Given the description of an element on the screen output the (x, y) to click on. 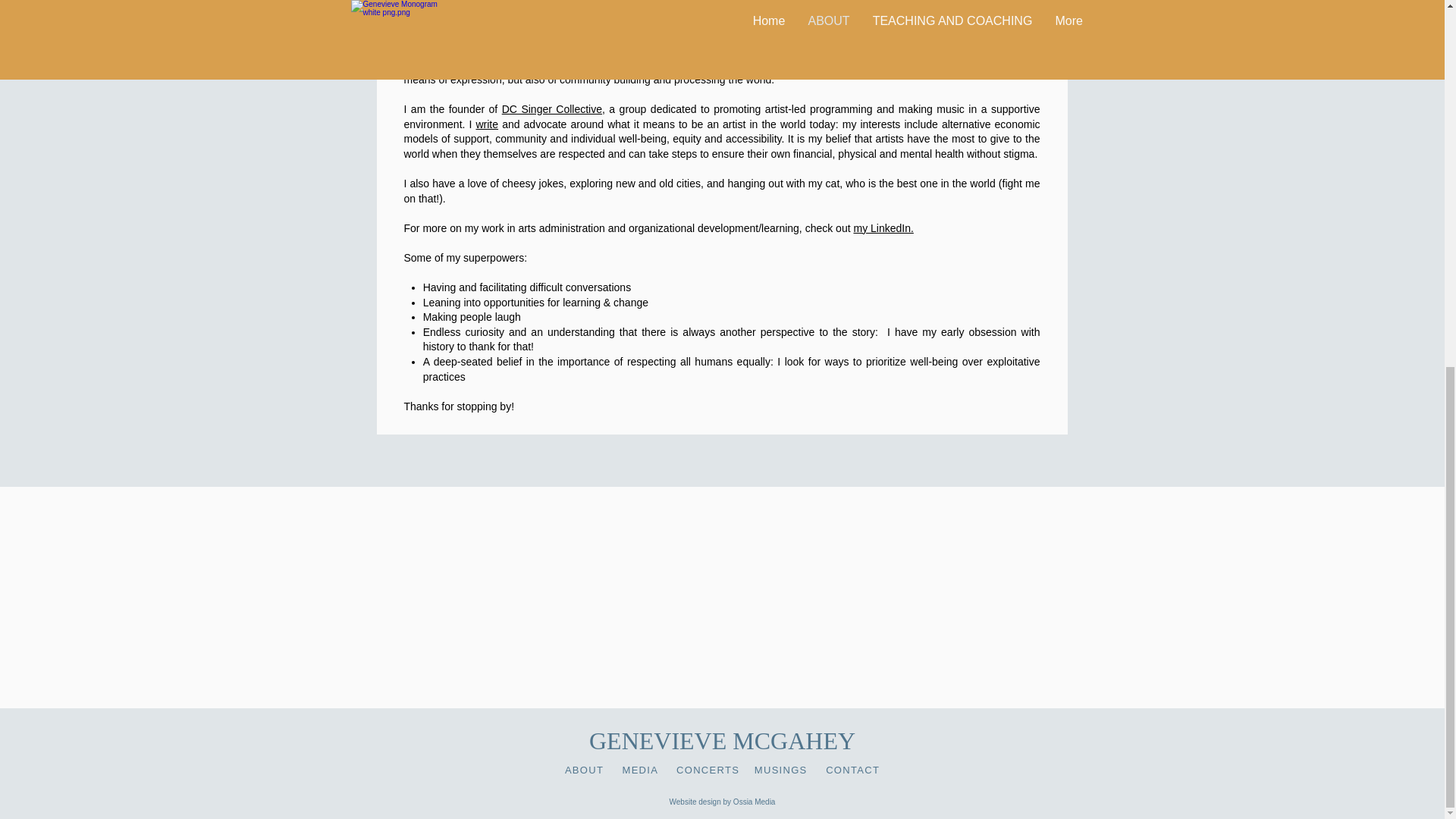
MEDIA (639, 769)
DC Singer Collective (552, 109)
ABOUT (584, 769)
my LinkedIn. (882, 227)
CONTACT (852, 769)
write (486, 123)
MUSINGS (781, 769)
CONCERTS (708, 769)
